Given the description of an element on the screen output the (x, y) to click on. 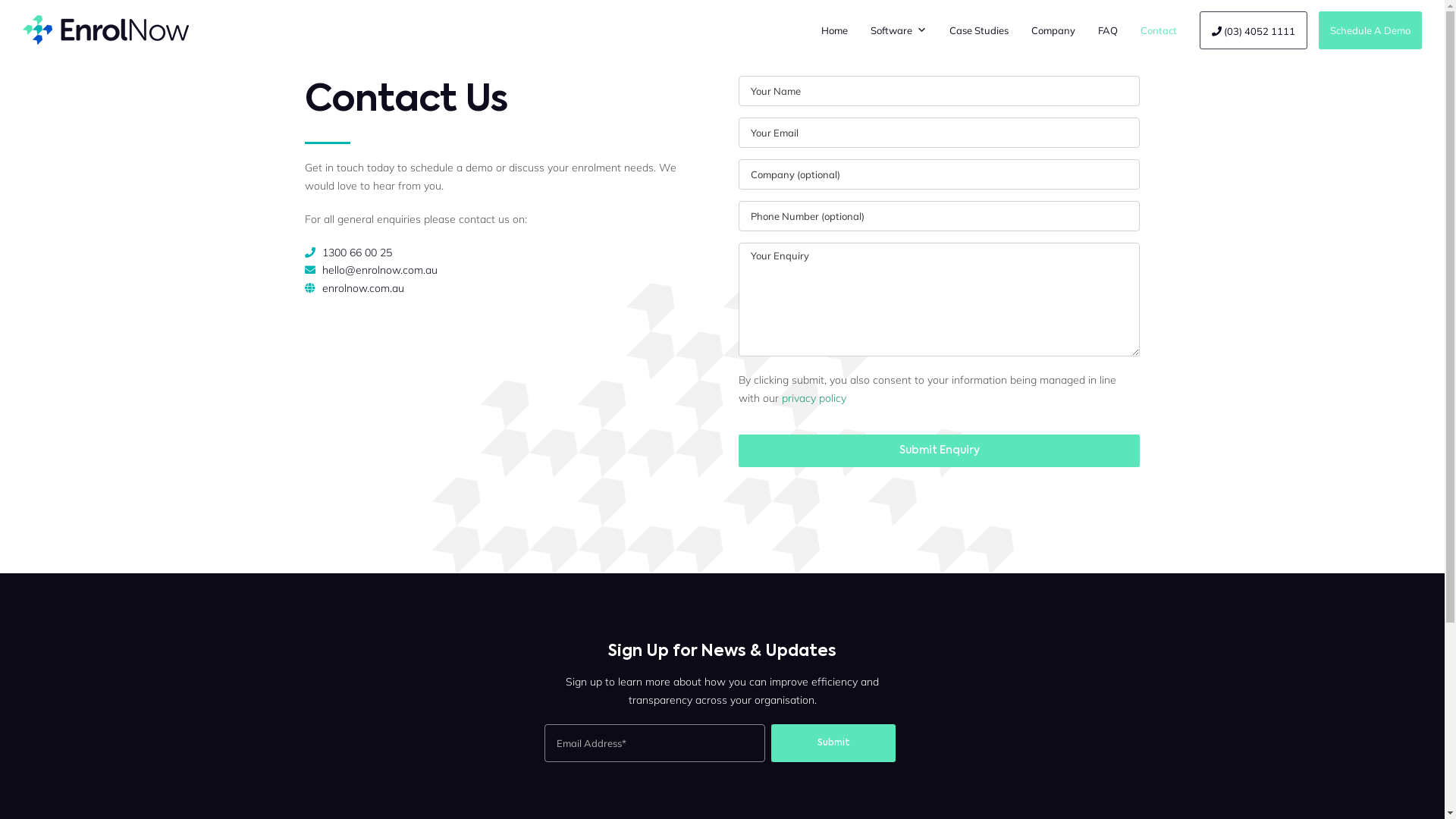
Company Element type: text (1052, 30)
(03) 4052 1111 Element type: text (1253, 30)
Home Element type: text (834, 30)
Submit Enquiry Element type: text (938, 450)
Schedule A Demo Element type: text (1369, 30)
FAQ Element type: text (1107, 30)
Case Studies Element type: text (978, 30)
hello@enrolnow.com.au Element type: text (379, 269)
1300 66 00 25 Element type: text (357, 252)
enrolnow.com.au Element type: text (363, 287)
Software Element type: text (898, 30)
Contact Element type: text (1158, 30)
Submit Element type: text (833, 743)
privacy policy Element type: text (813, 397)
